Given the description of an element on the screen output the (x, y) to click on. 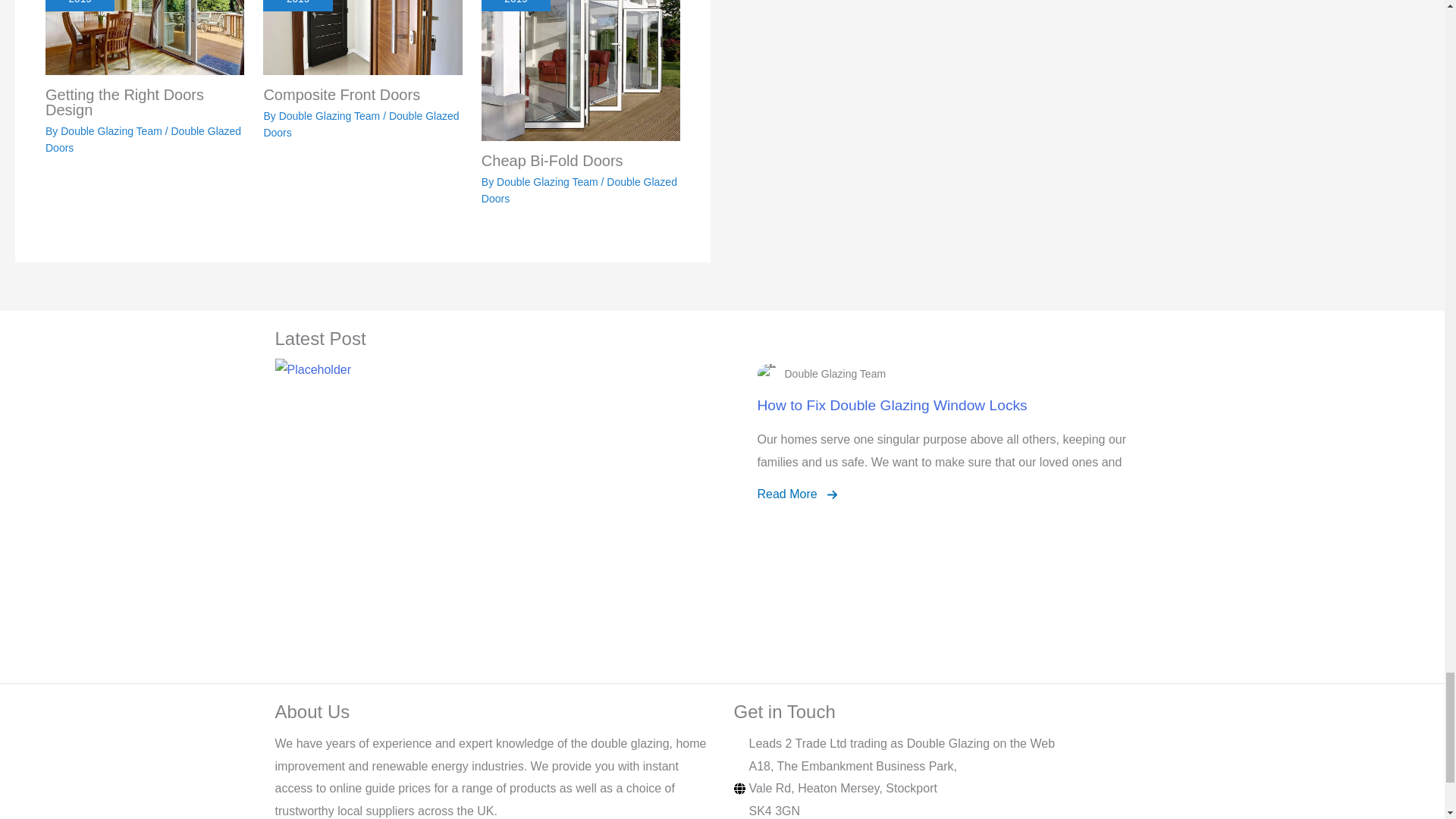
View all posts by Double Glazing Team (330, 115)
Getting the Right Doors Design (144, 37)
View all posts by Double Glazing Team (112, 131)
Composite Front Doors (362, 37)
Cheap Bi-Fold Doors (580, 70)
View all posts by Double Glazing Team (547, 182)
